Given the description of an element on the screen output the (x, y) to click on. 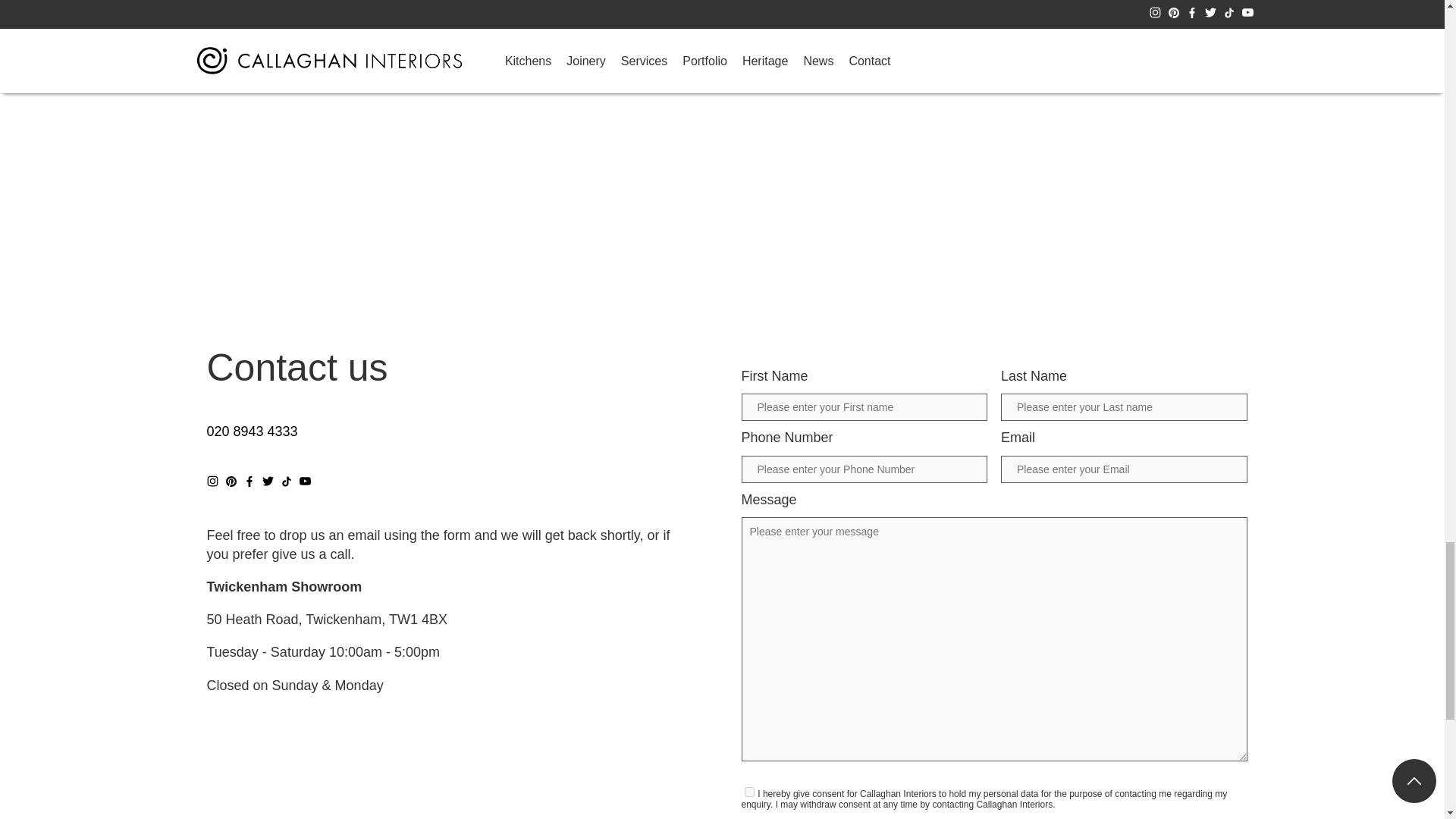
true (749, 791)
020 8943 4333 (251, 431)
